Given the description of an element on the screen output the (x, y) to click on. 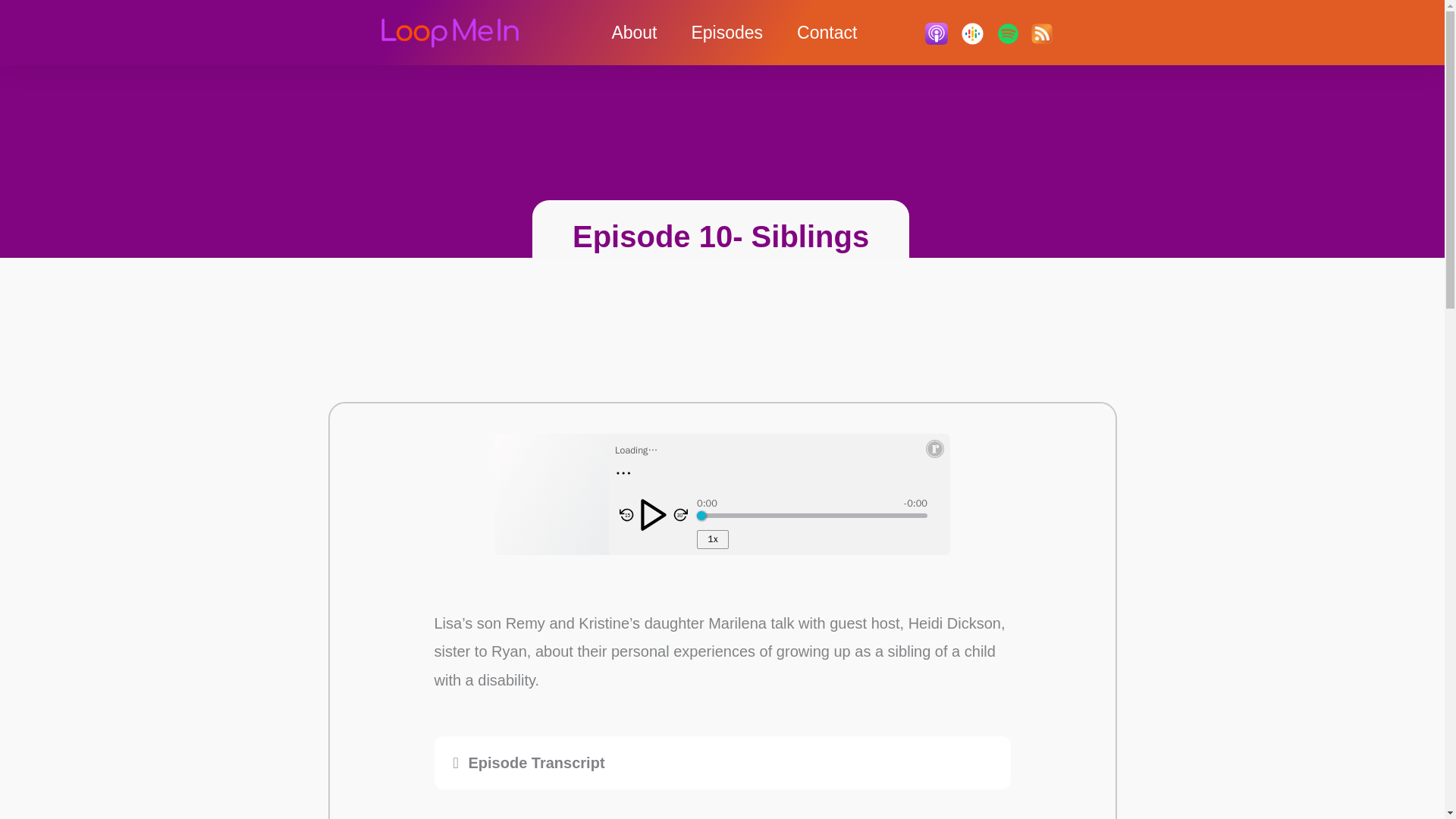
Episode Transcript (536, 762)
About (633, 32)
Contact (826, 32)
Episodes (726, 32)
